Given the description of an element on the screen output the (x, y) to click on. 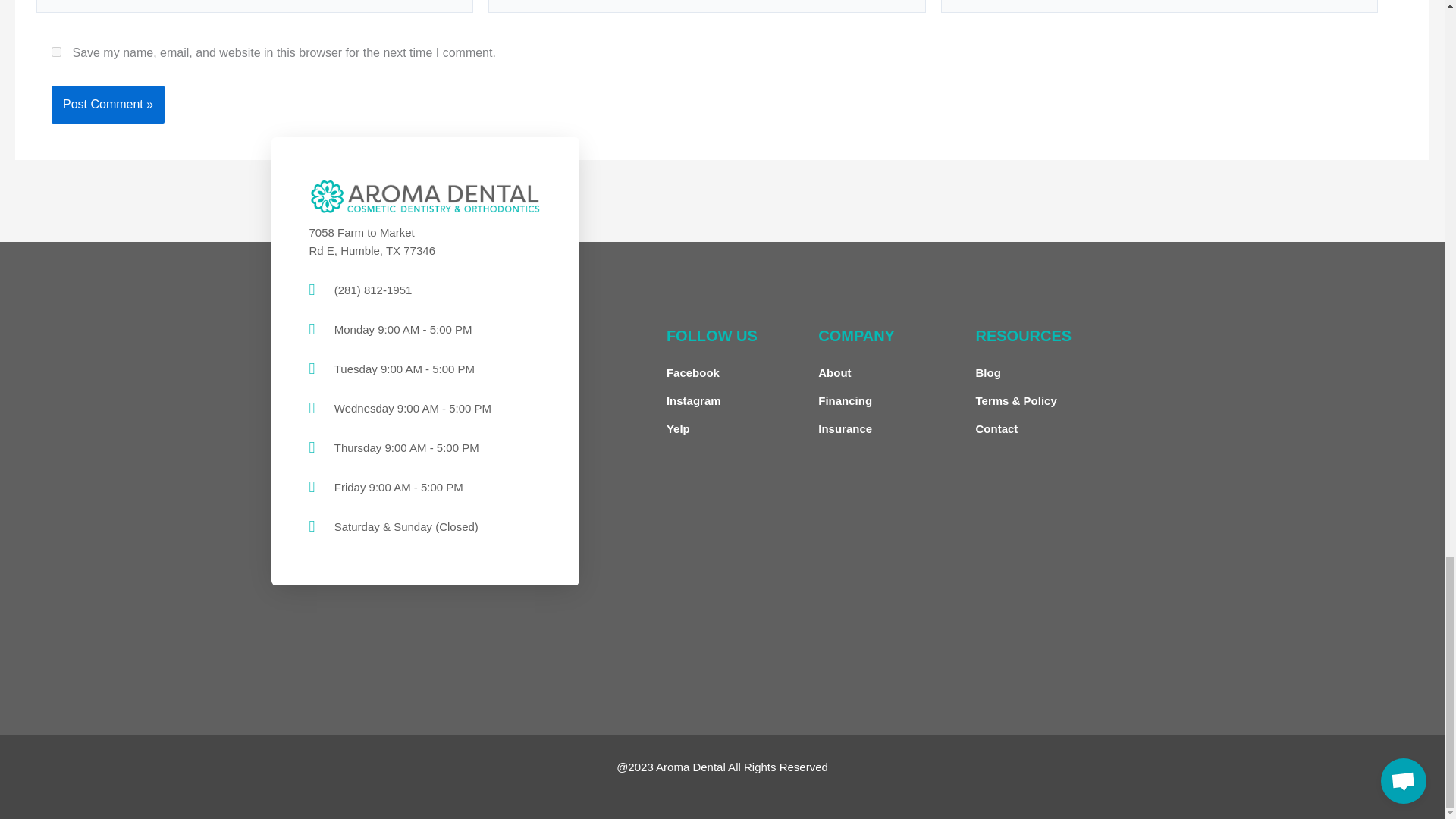
yes (55, 51)
